Given the description of an element on the screen output the (x, y) to click on. 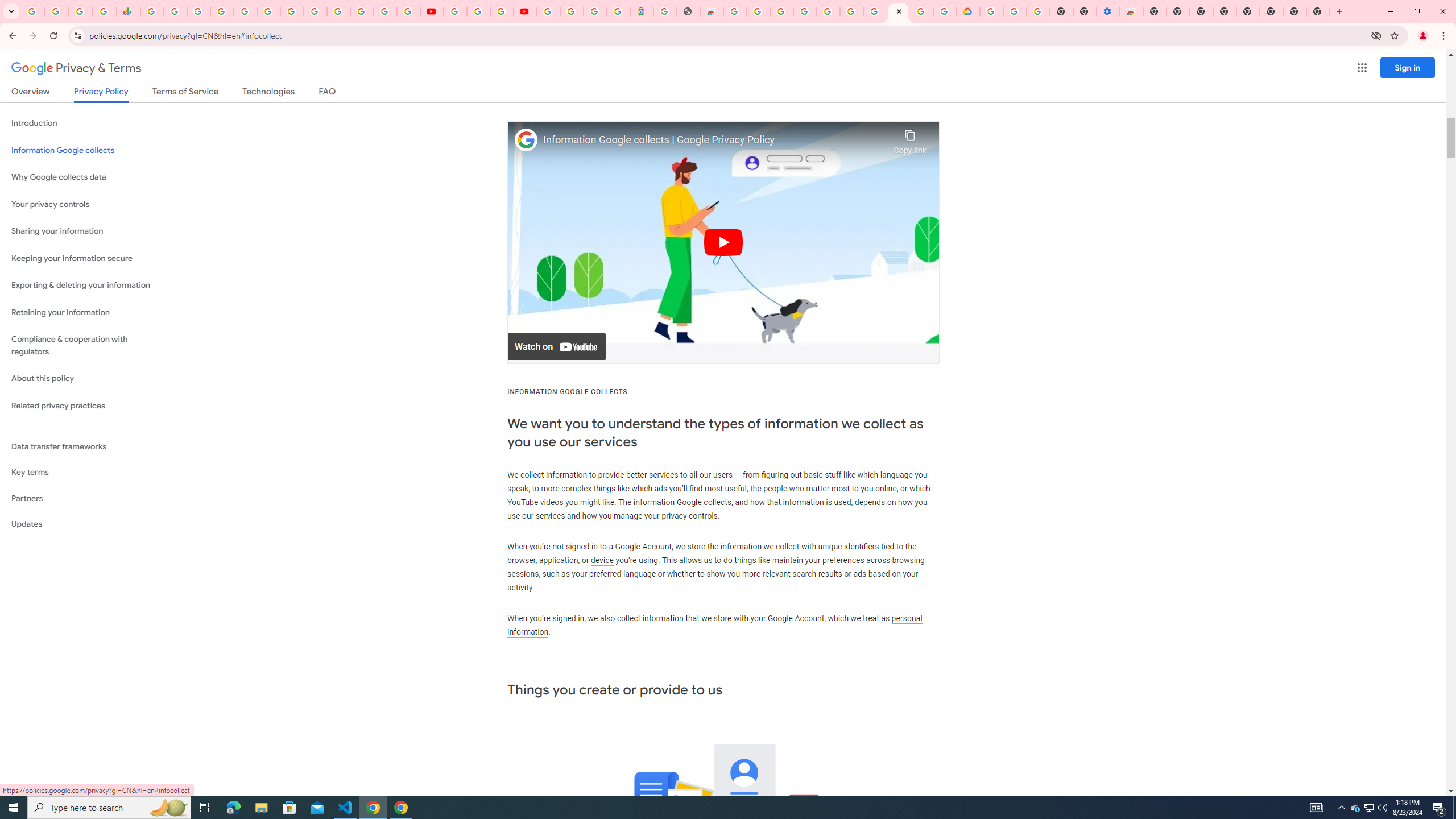
Google Workspace Admin Community (32, 11)
personal information (714, 625)
Watch on YouTube (556, 346)
Key terms (86, 472)
Related privacy practices (86, 405)
YouTube (454, 11)
Sign in - Google Accounts (384, 11)
Create your Google Account (501, 11)
Sign in - Google Accounts (571, 11)
